Given the description of an element on the screen output the (x, y) to click on. 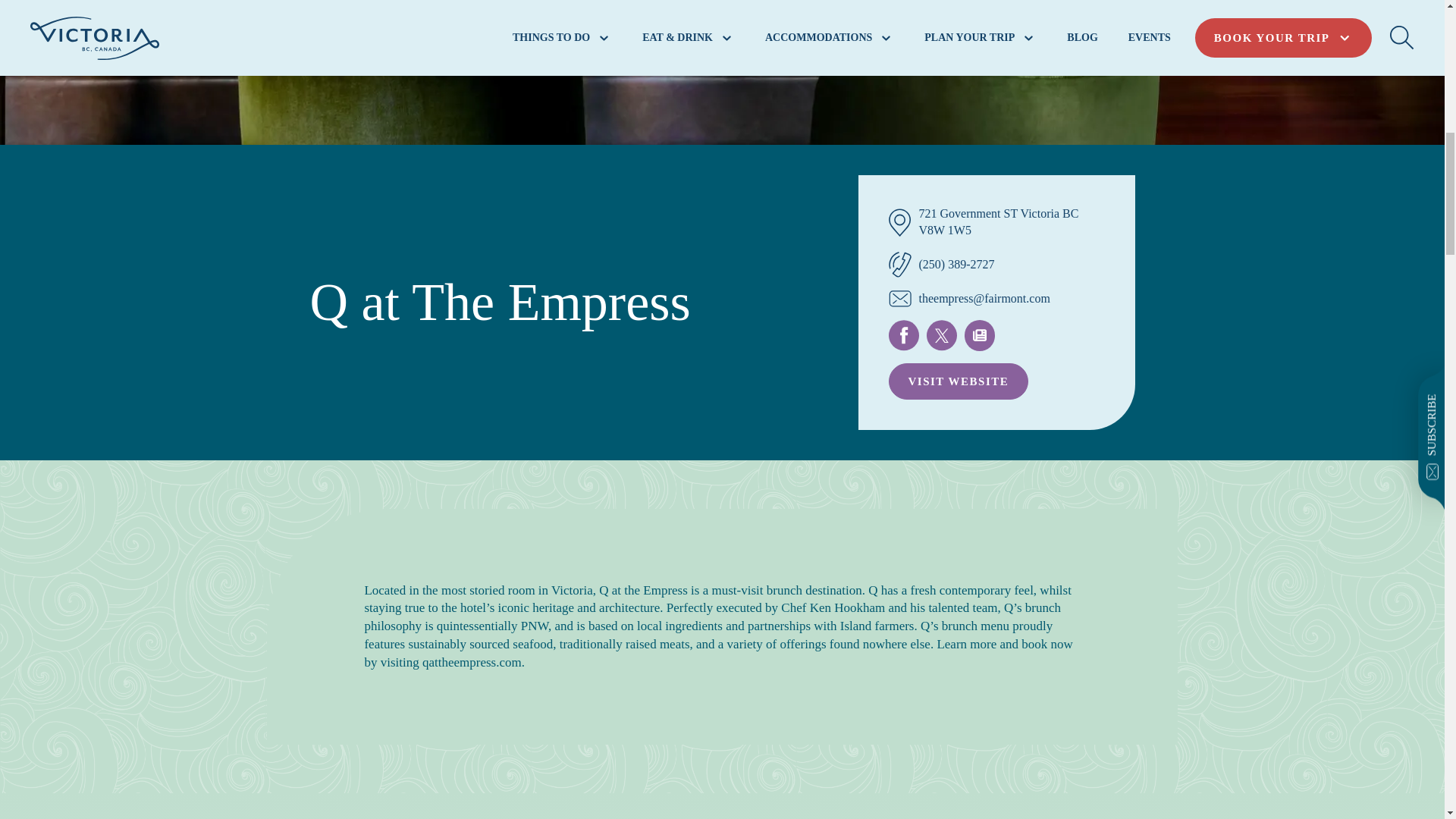
x (941, 335)
VISIT WEBSITE (958, 381)
facebook (903, 335)
blog (978, 335)
